Given the description of an element on the screen output the (x, y) to click on. 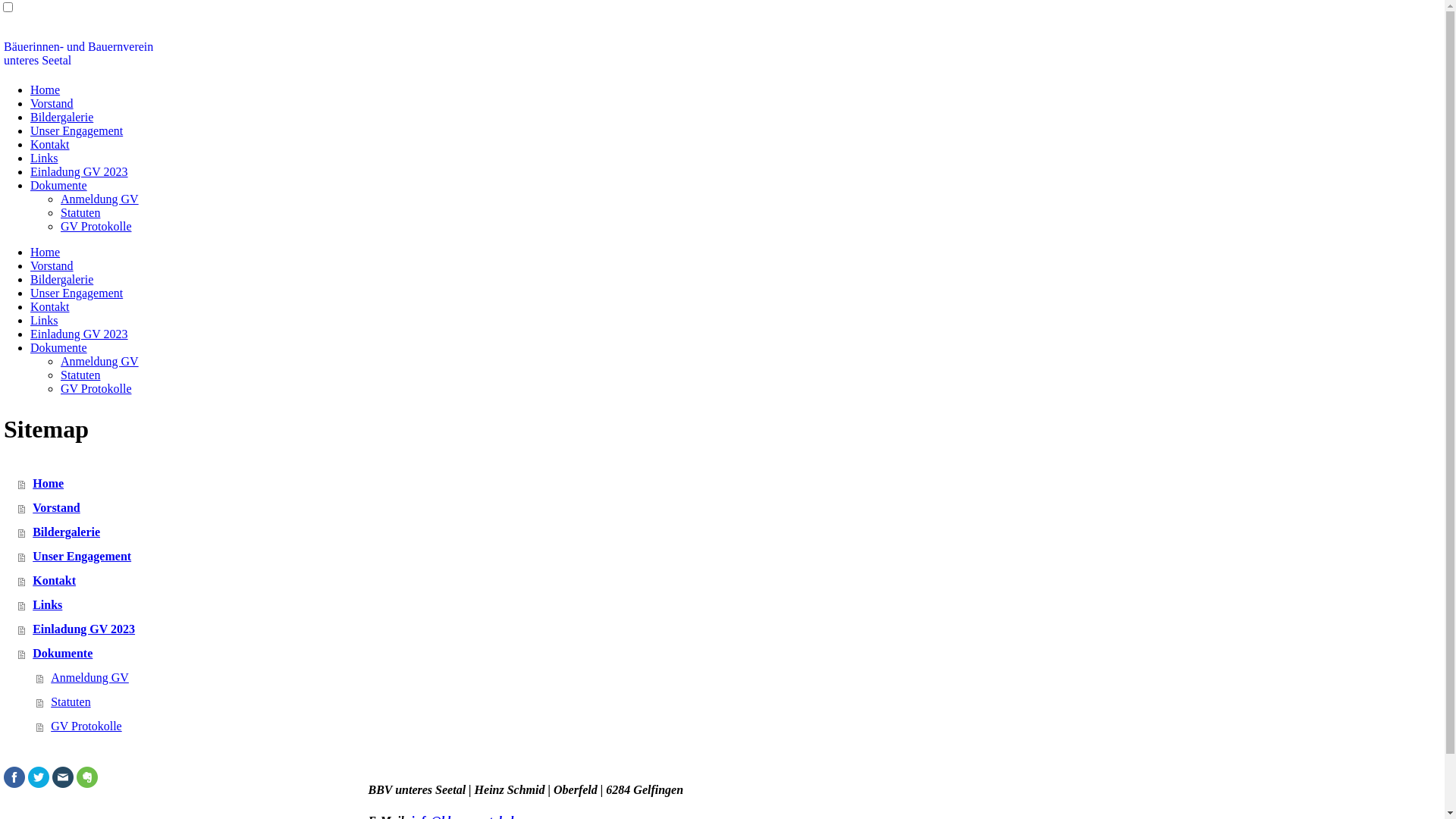
Unser Engagement Element type: text (76, 292)
Einladung GV 2023 Element type: text (731, 629)
Evernote Element type: hover (86, 776)
Vorstand Element type: text (51, 103)
Einladung GV 2023 Element type: text (79, 333)
Twitter Element type: hover (38, 776)
Home Element type: text (44, 251)
Dokumente Element type: text (731, 653)
Dokumente Element type: text (58, 184)
Bildergalerie Element type: text (61, 279)
Einladung GV 2023 Element type: text (79, 171)
Statuten Element type: text (740, 702)
GV Protokolle Element type: text (740, 726)
Kontakt Element type: text (731, 580)
Links Element type: text (731, 605)
Links Element type: text (43, 157)
E-Mail Element type: hover (62, 776)
Vorstand Element type: text (731, 507)
GV Protokolle Element type: text (95, 388)
Bildergalerie Element type: text (731, 532)
Anmeldung GV Element type: text (740, 677)
Vorstand Element type: text (51, 265)
Anmeldung GV Element type: text (99, 198)
Unser Engagement Element type: text (76, 130)
Anmeldung GV Element type: text (99, 360)
GV Protokolle Element type: text (95, 225)
Statuten Element type: text (80, 374)
Kontakt Element type: text (49, 306)
Dokumente Element type: text (58, 347)
Statuten Element type: text (80, 212)
Home Element type: text (44, 89)
Facebook Element type: hover (14, 776)
Links Element type: text (43, 319)
Bildergalerie Element type: text (61, 116)
Kontakt Element type: text (49, 144)
Home Element type: text (731, 483)
Unser Engagement Element type: text (731, 556)
